Given the description of an element on the screen output the (x, y) to click on. 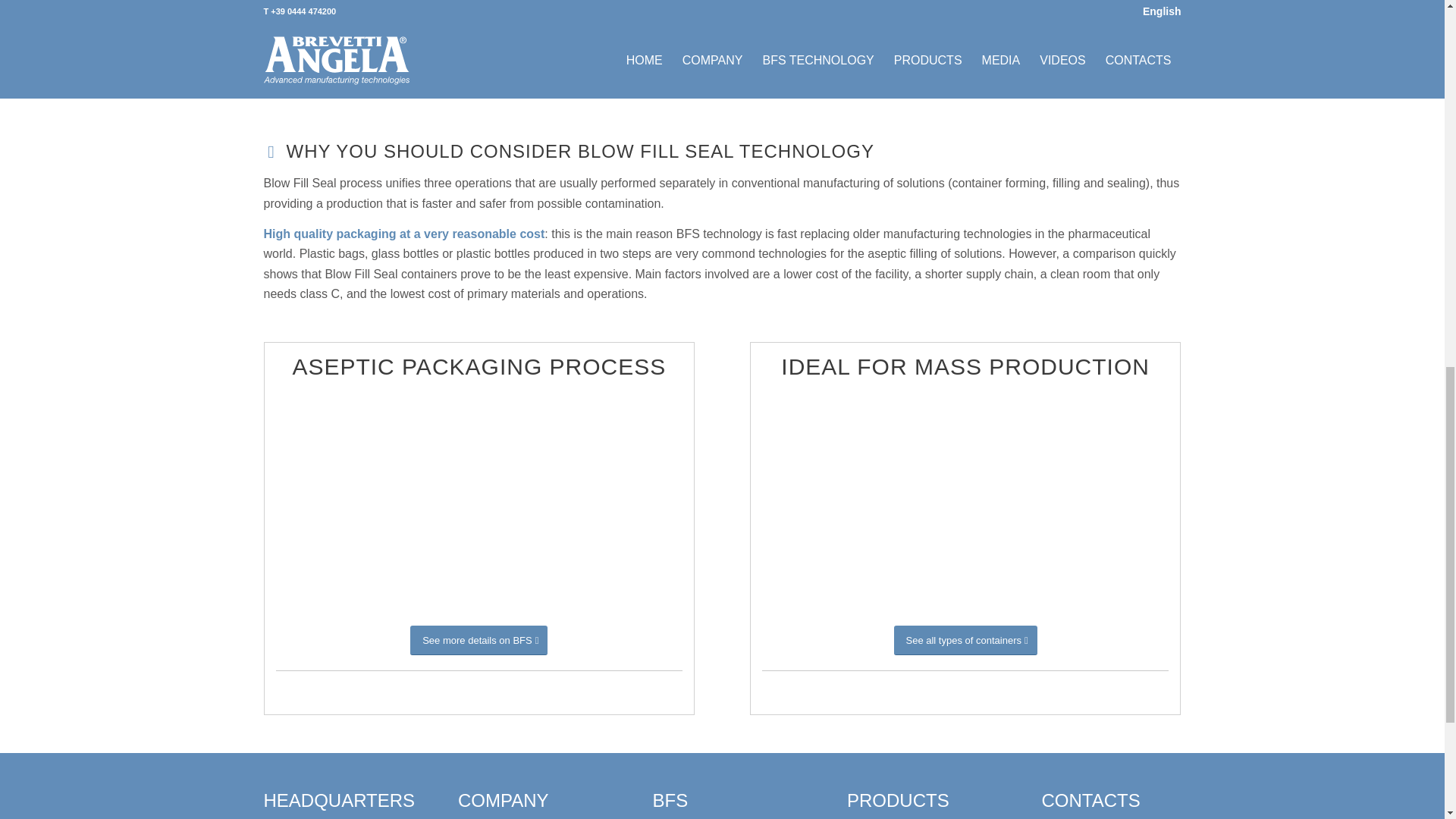
SYFPAC (721, 49)
